Given the description of an element on the screen output the (x, y) to click on. 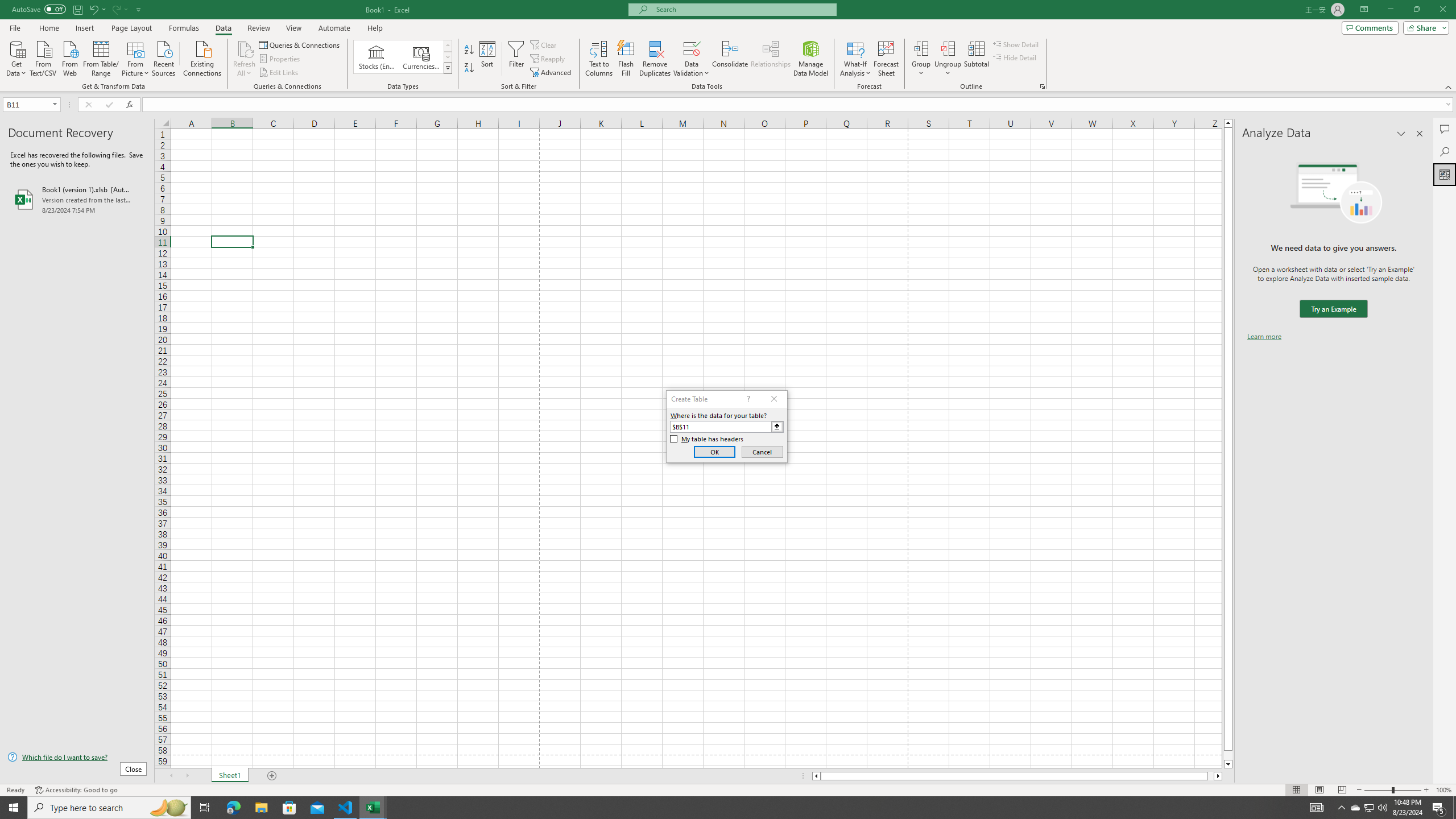
Data Types (448, 67)
Restore Down (1416, 9)
Search (1444, 151)
Sort... (487, 58)
From Table/Range (100, 57)
Automate (334, 28)
